Given the description of an element on the screen output the (x, y) to click on. 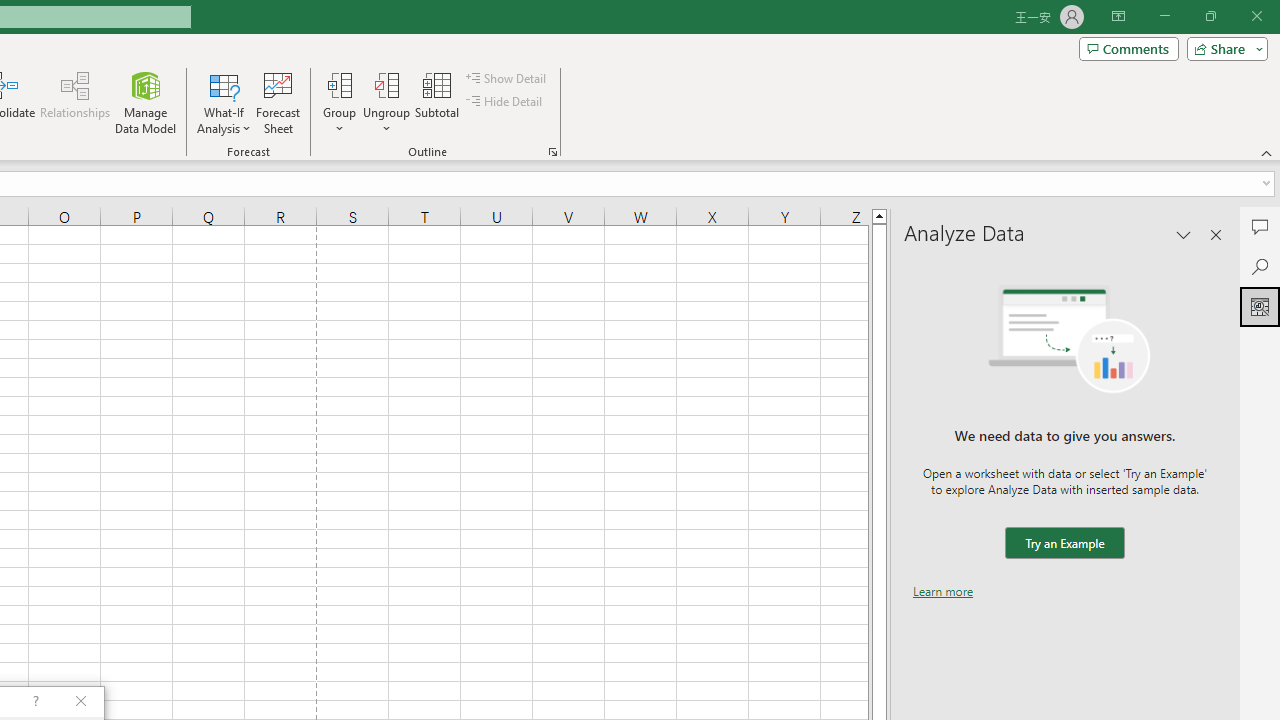
We need data to give you answers. Try an Example (1064, 543)
Share (1223, 48)
Comments (1260, 226)
What-If Analysis (223, 102)
Manage Data Model (145, 102)
Close pane (1215, 234)
Forecast Sheet (278, 102)
Analyze Data (1260, 306)
Collapse the Ribbon (1267, 152)
Relationships (75, 102)
Group... (339, 102)
Learn more (943, 591)
Comments (1128, 48)
Ungroup... (386, 102)
Group... (339, 84)
